Given the description of an element on the screen output the (x, y) to click on. 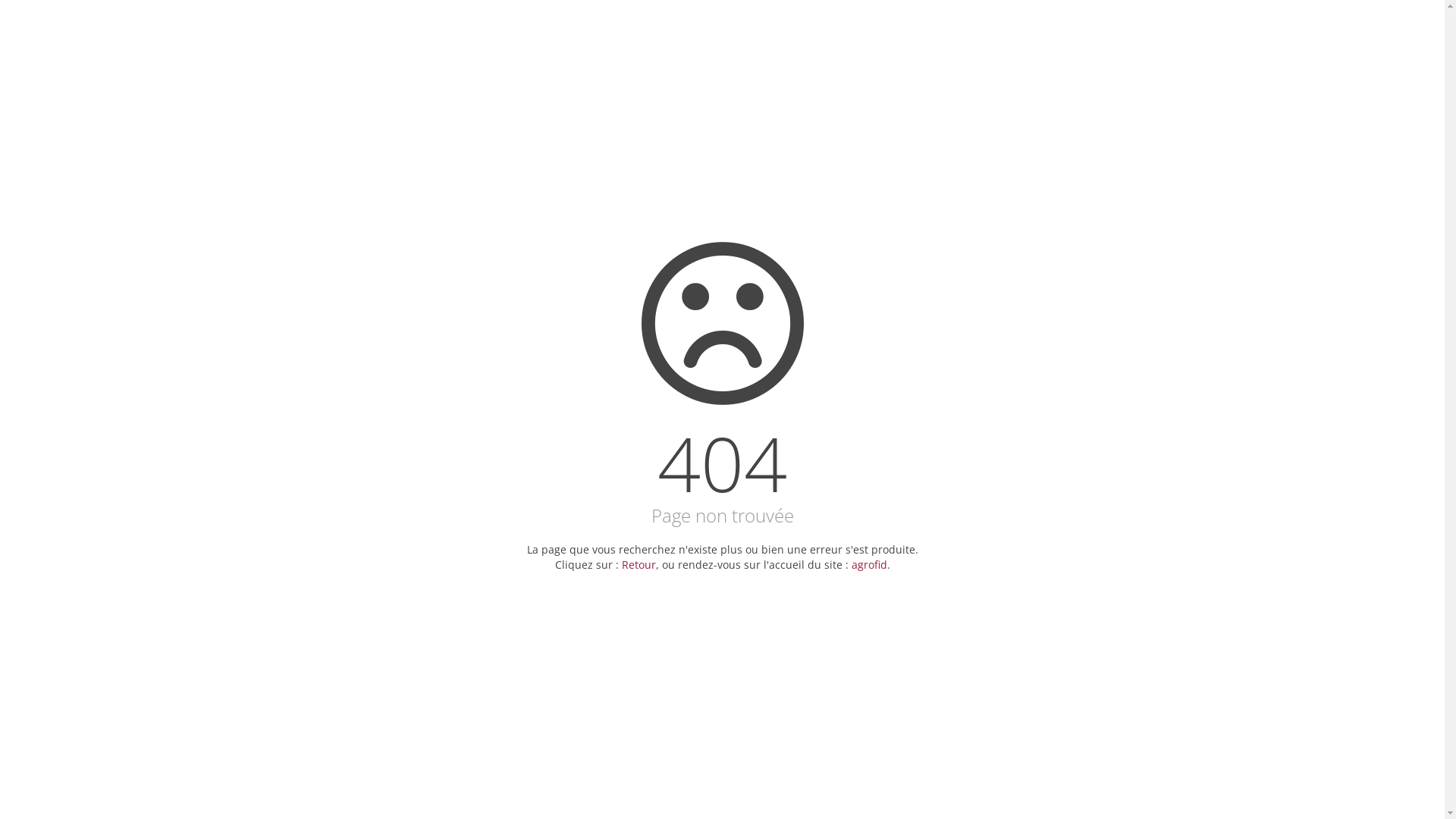
Retour Element type: text (638, 564)
agrofid Element type: text (868, 564)
